Given the description of an element on the screen output the (x, y) to click on. 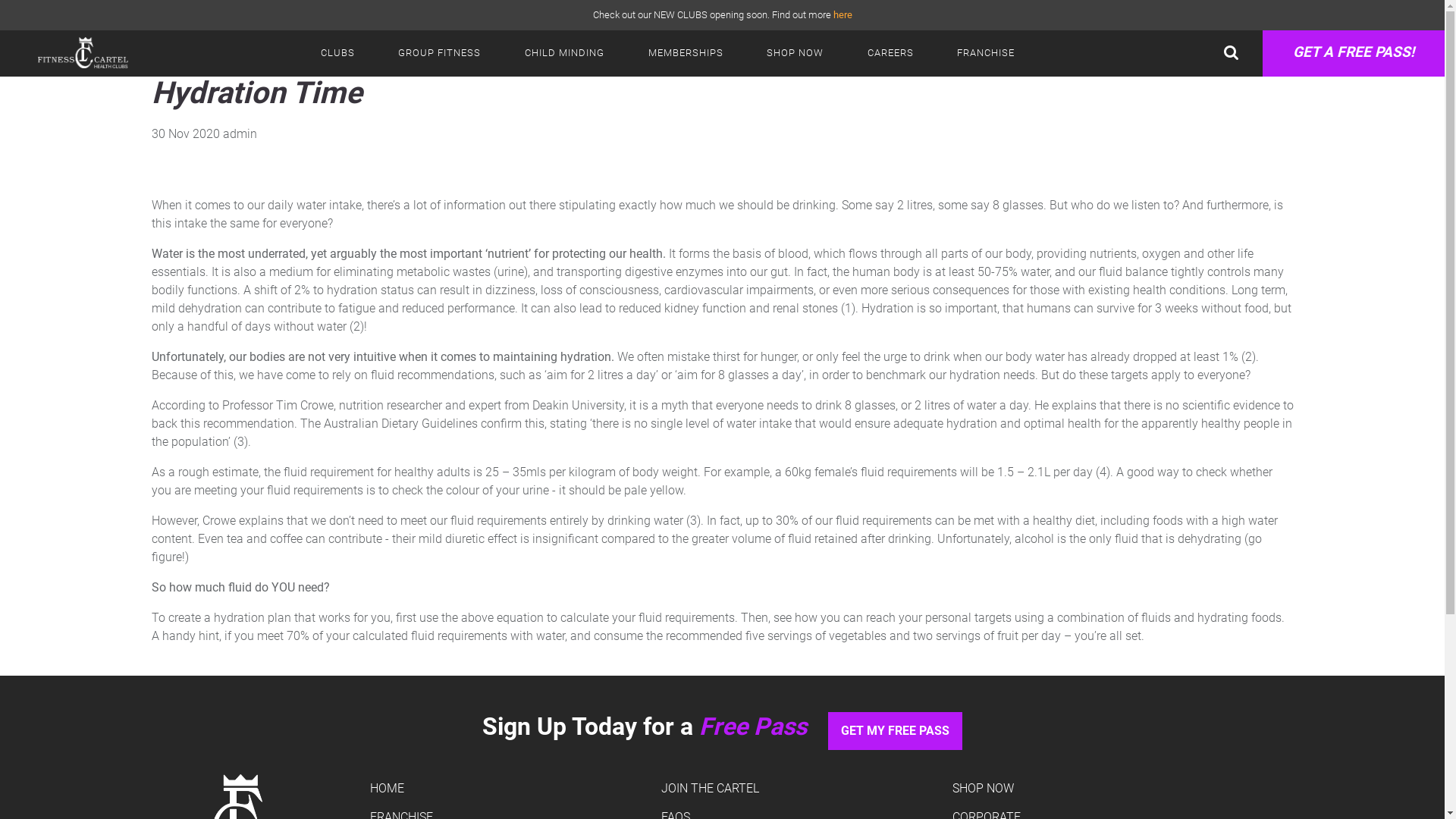
SHOP NOW Element type: text (982, 788)
FRANCHISE Element type: text (986, 53)
JOIN THE CARTEL Element type: text (710, 788)
GET MY FREE PASS Element type: text (895, 730)
News Element type: text (241, 61)
CLUBS Element type: text (337, 53)
SHOP NOW Element type: text (794, 53)
Fitness Cartel Home Page Element type: hover (67, 52)
Home Element type: text (181, 61)
GET A FREE PASS! Element type: text (1353, 52)
HOME Element type: text (387, 788)
CHILD MINDING Element type: text (564, 53)
MEMBERSHIPS Element type: text (685, 53)
here Element type: text (841, 14)
GROUP FITNESS Element type: text (439, 53)
CAREERS Element type: text (890, 53)
